Given the description of an element on the screen output the (x, y) to click on. 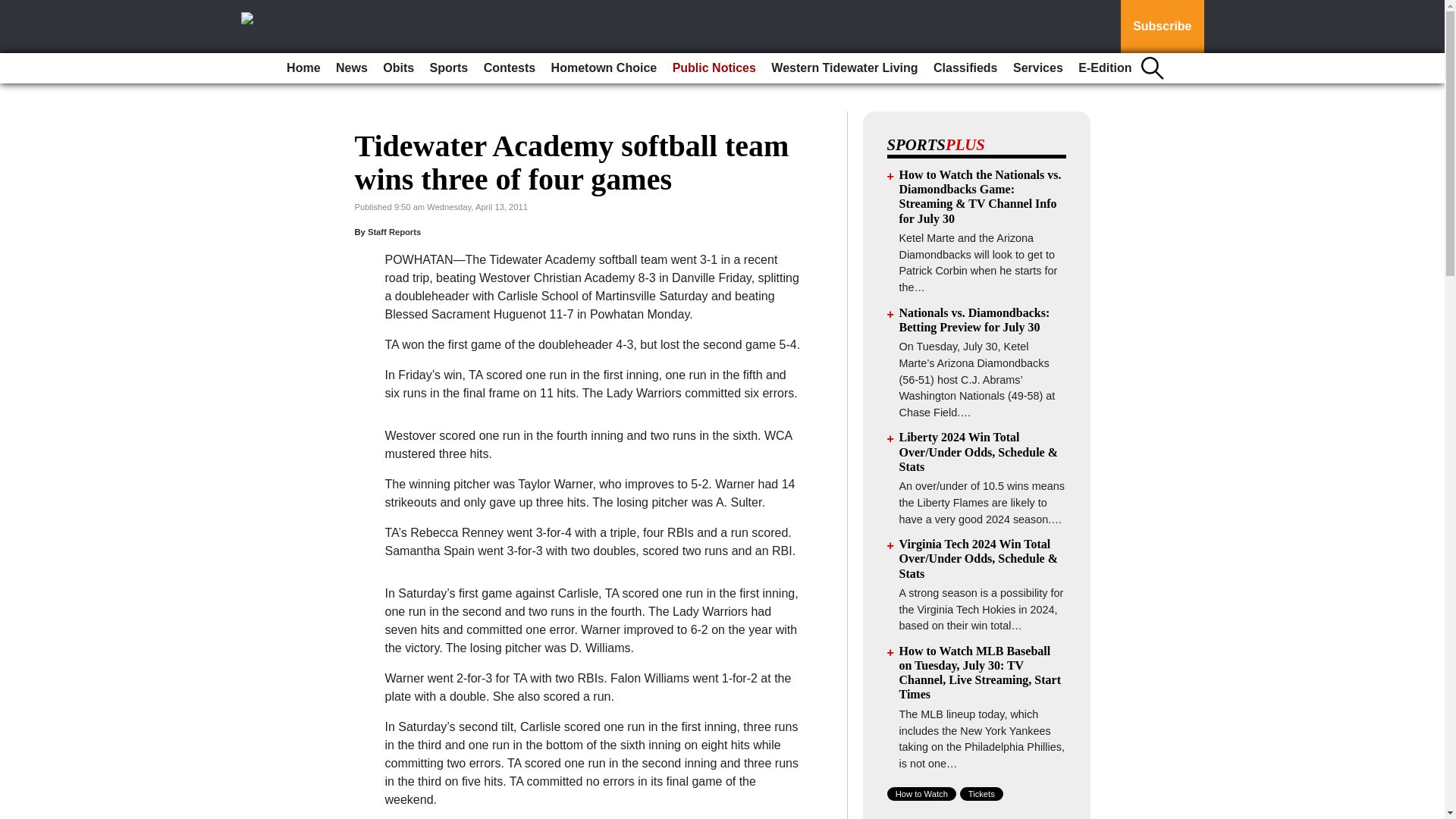
Subscribe (1162, 26)
Go (13, 9)
Sports (448, 68)
News (352, 68)
Contests (509, 68)
Services (1037, 68)
Staff Reports (394, 231)
Classifieds (965, 68)
Western Tidewater Living (844, 68)
E-Edition (1104, 68)
Hometown Choice (603, 68)
Home (303, 68)
Obits (398, 68)
Public Notices (713, 68)
